Given the description of an element on the screen output the (x, y) to click on. 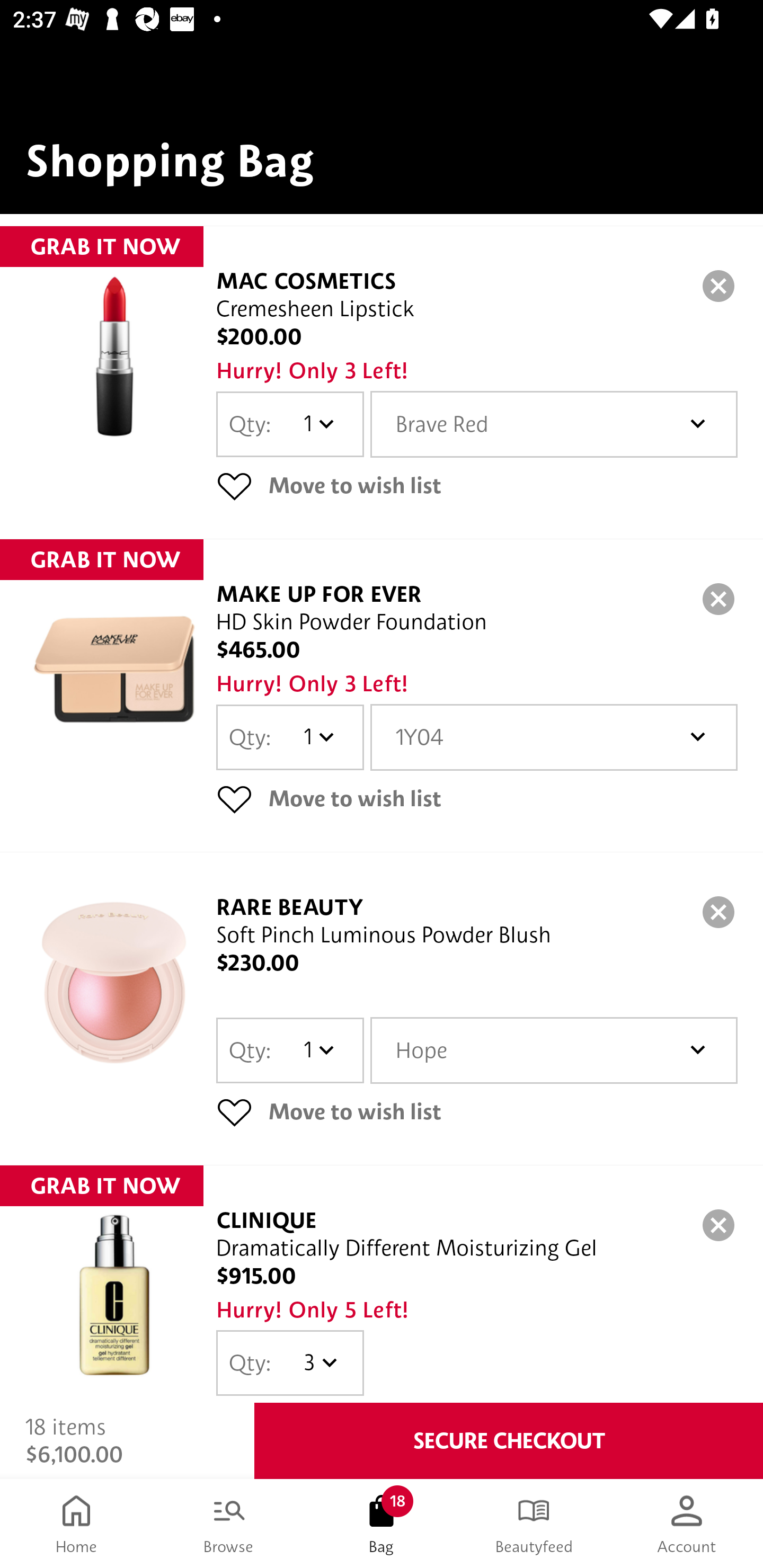
Brave Red (553, 423)
Move to wish list (476, 484)
1Y04 (553, 737)
Move to wish list (476, 798)
Hope (553, 1050)
3 (317, 1362)
SECURE CHECKOUT (508, 1440)
Home (76, 1523)
